Given the description of an element on the screen output the (x, y) to click on. 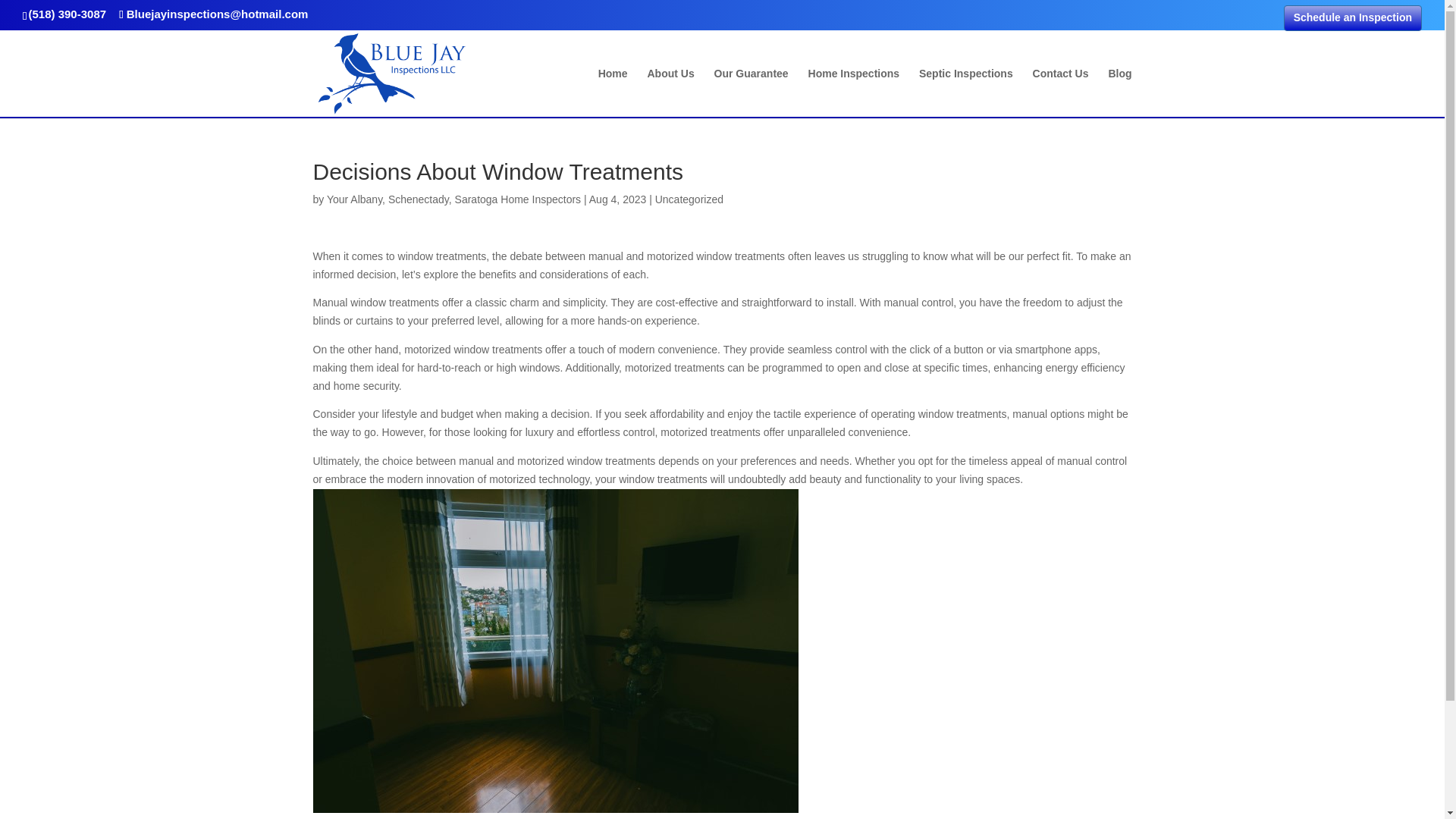
Home Inspections (853, 92)
Uncategorized (689, 199)
Septic Inspections (965, 92)
Our Guarantee (751, 92)
Schedule an Inspection (1353, 17)
Your Albany, Schenectady, Saratoga Home Inspectors (453, 199)
Posts by Your Albany, Schenectady, Saratoga Home Inspectors (453, 199)
About Us (670, 92)
Contact Us (1060, 92)
